Given the description of an element on the screen output the (x, y) to click on. 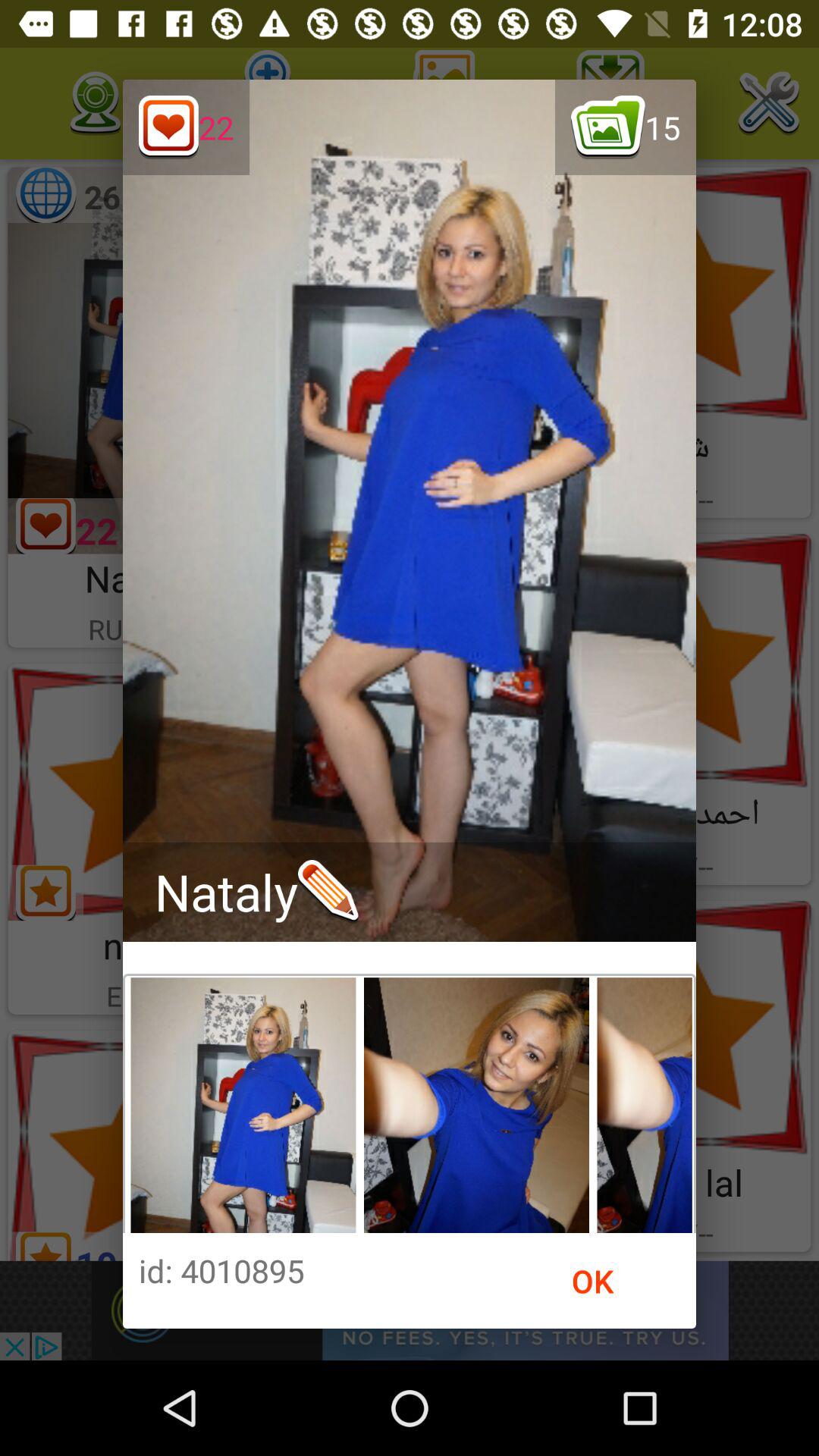
turn off item below the 22 item (256, 891)
